Given the description of an element on the screen output the (x, y) to click on. 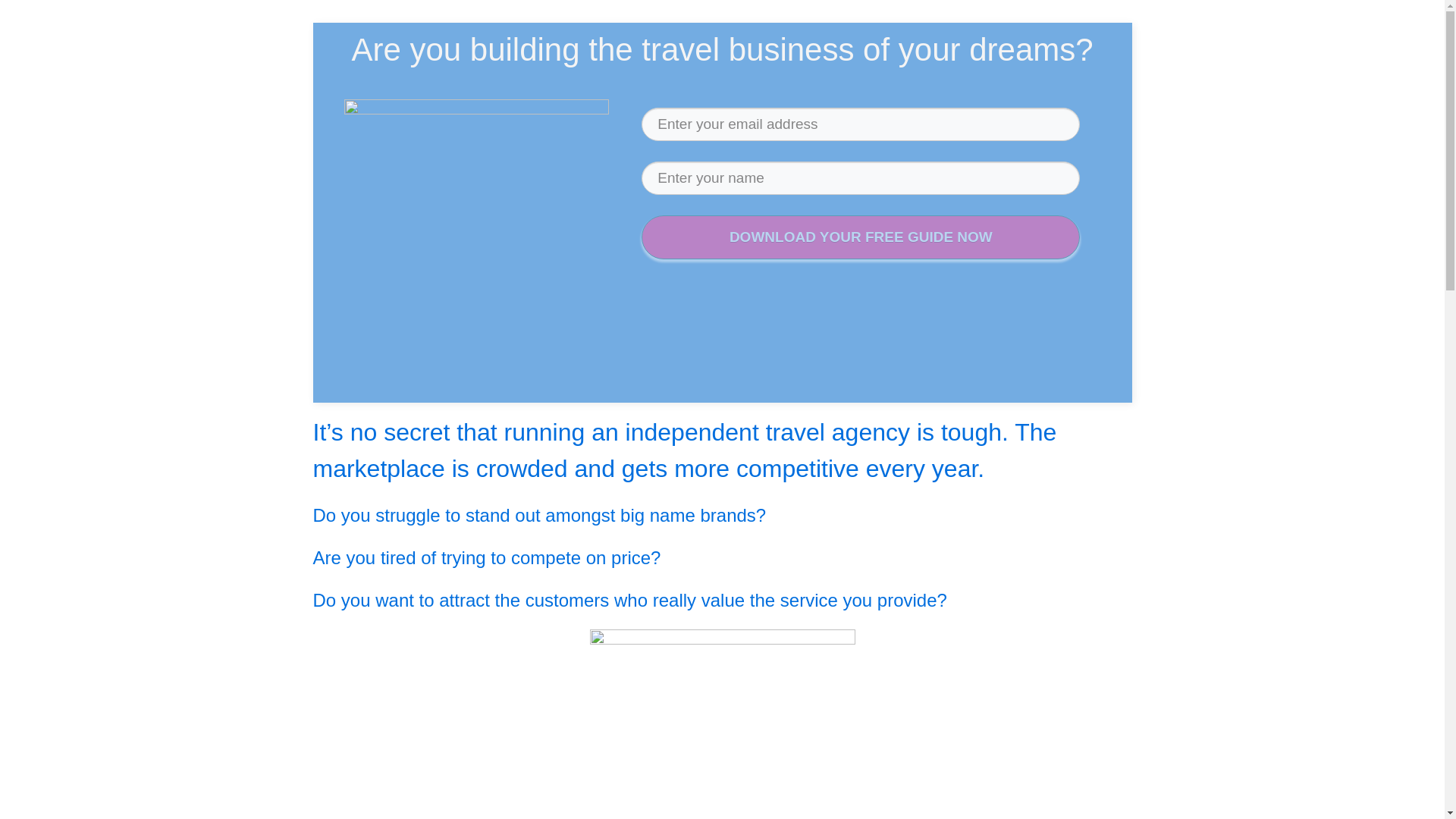
DOWNLOAD YOUR FREE GUIDE NOW (861, 237)
